Given the description of an element on the screen output the (x, y) to click on. 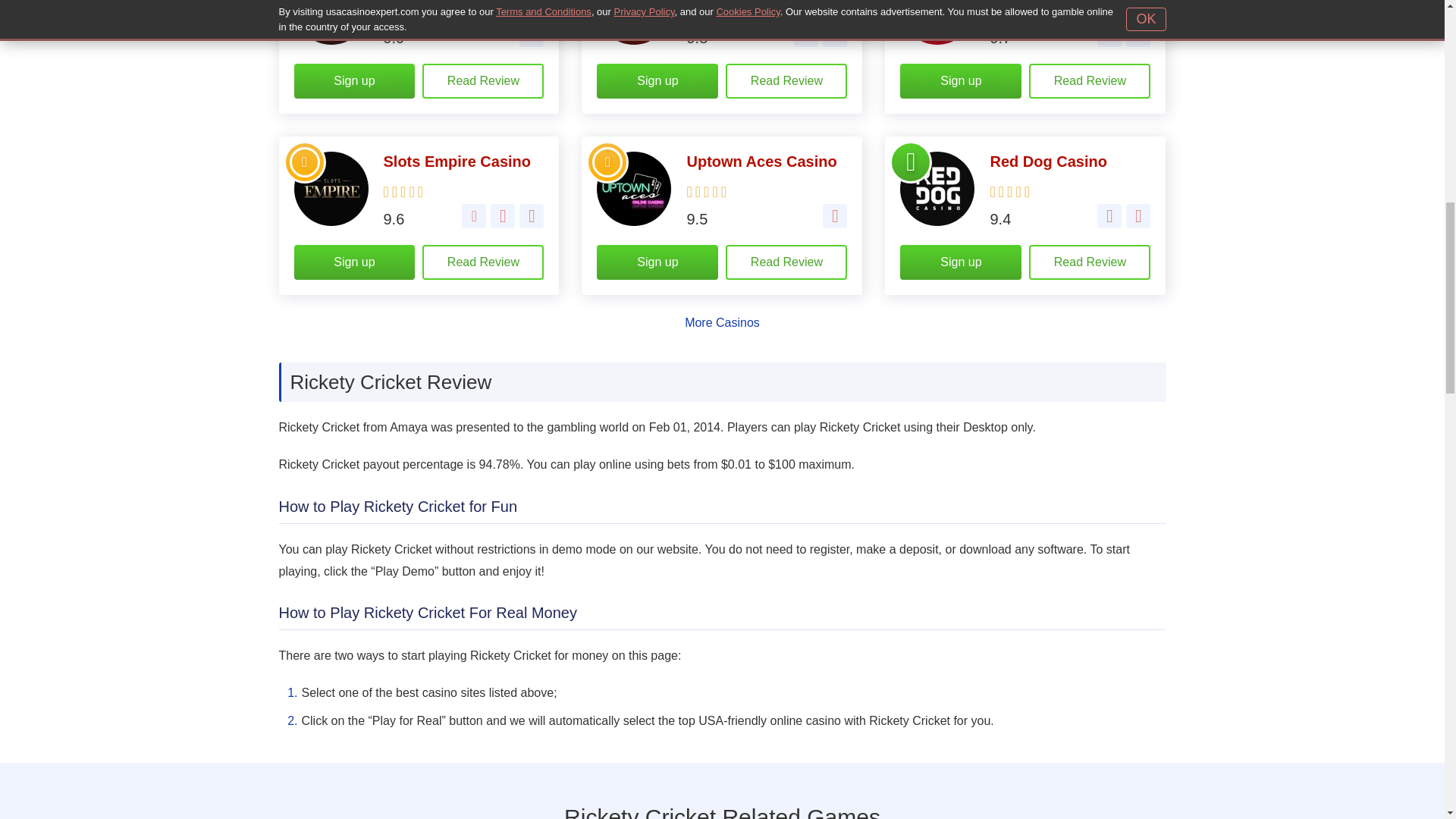
With Live Dealers (834, 34)
Mobile Friendly (834, 215)
Top 5 Casinos (304, 161)
Top 5 Casinos (304, 1)
Top 5 Casinos (910, 1)
With Live Dealers (1137, 34)
Top 5 Casinos (607, 1)
Mobile Friendly (502, 215)
With Live Dealers (531, 215)
Top 5 Casinos (607, 161)
Mobile Friendly (805, 34)
Mobile Friendly (531, 34)
Mobile Friendly (1109, 215)
With Live Dealers (1137, 215)
Mobile Friendly (1109, 34)
